Given the description of an element on the screen output the (x, y) to click on. 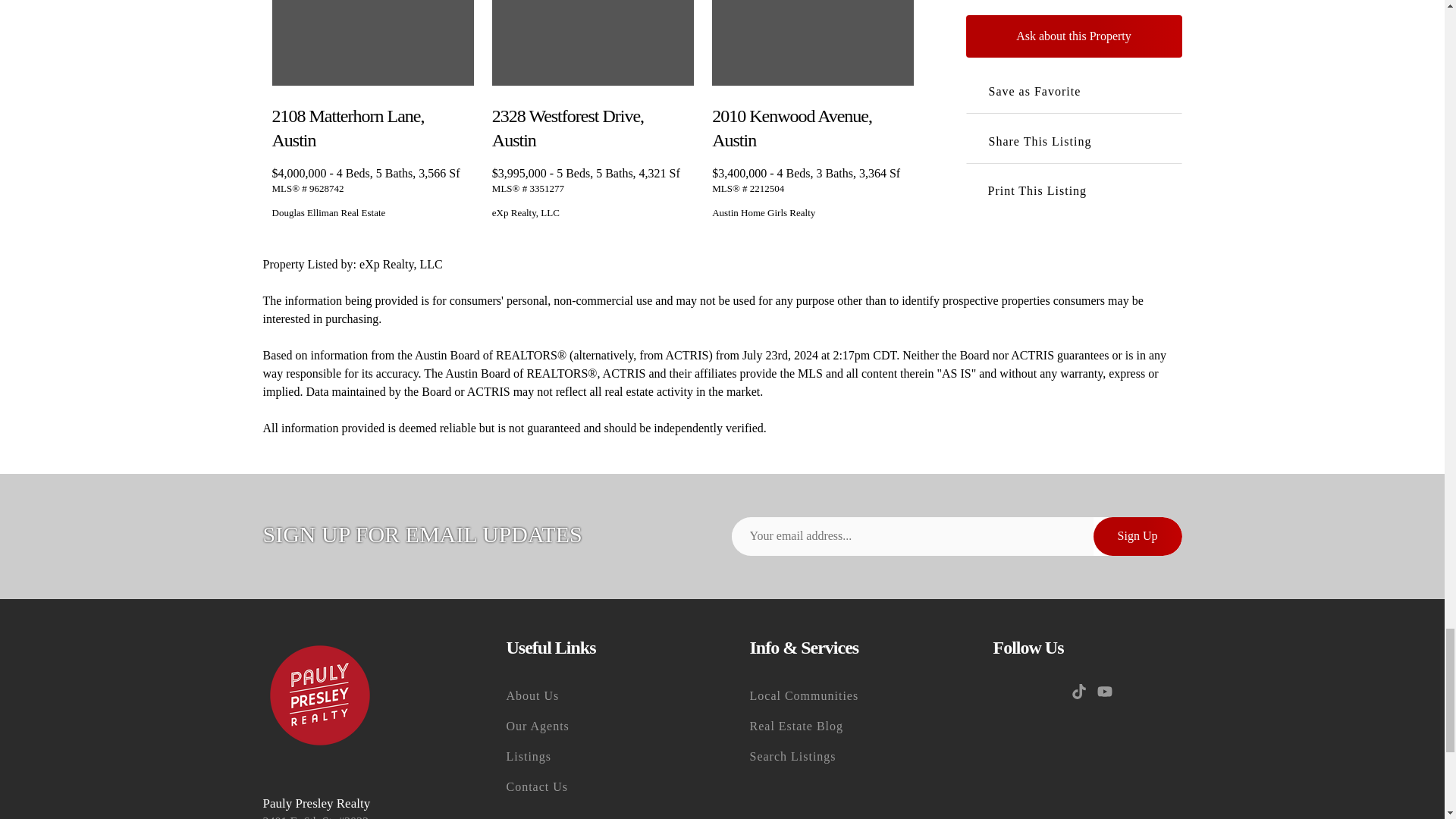
Save Listing (903, 113)
Save Listing (683, 113)
Site Logo (318, 695)
Save Listing (463, 113)
